Given the description of an element on the screen output the (x, y) to click on. 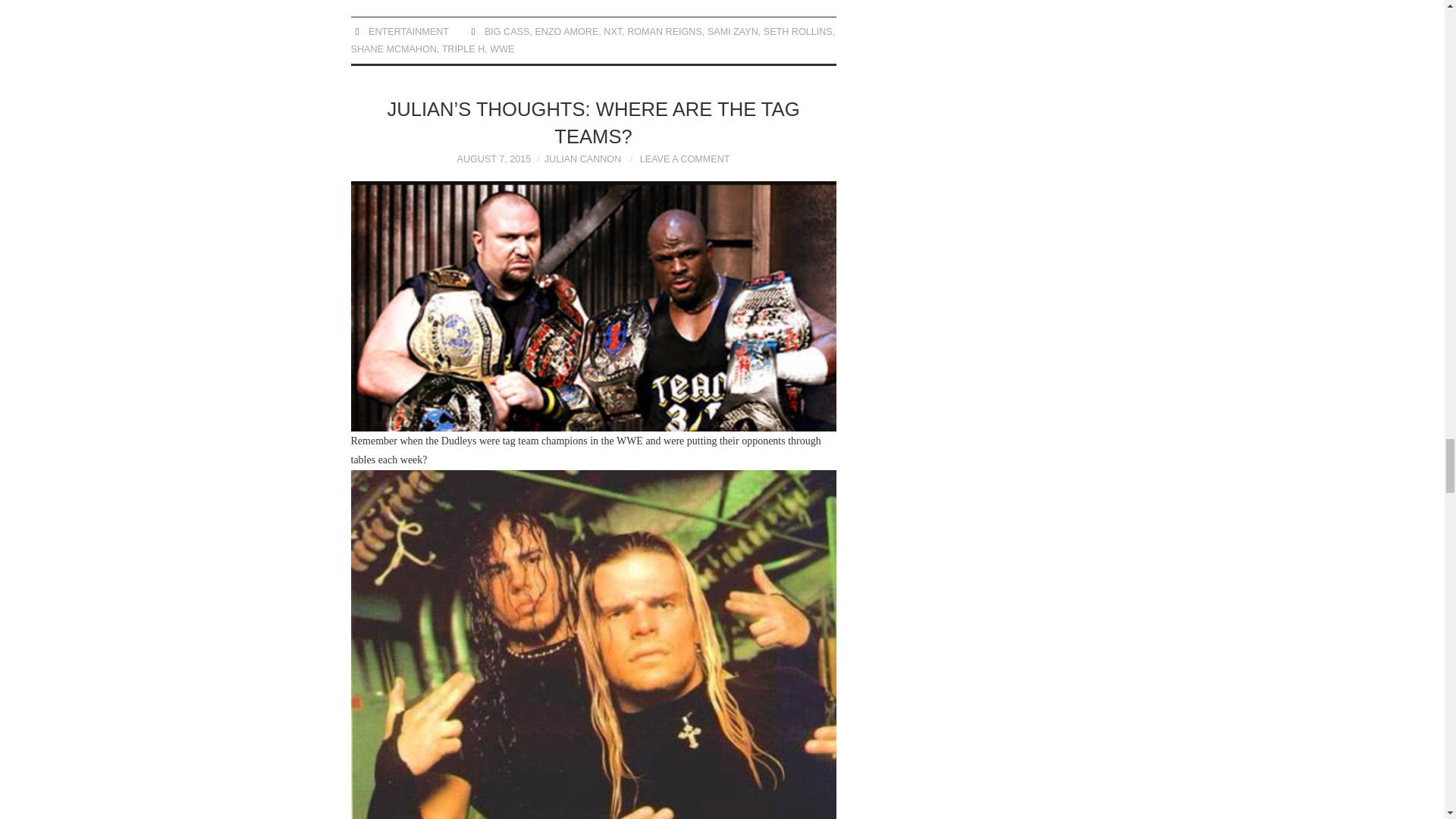
wp-1438981781104 (592, 305)
ENZO AMORE (566, 31)
NXT (612, 31)
ENTERTAINMENT (408, 31)
BIG CASS (506, 31)
